Given the description of an element on the screen output the (x, y) to click on. 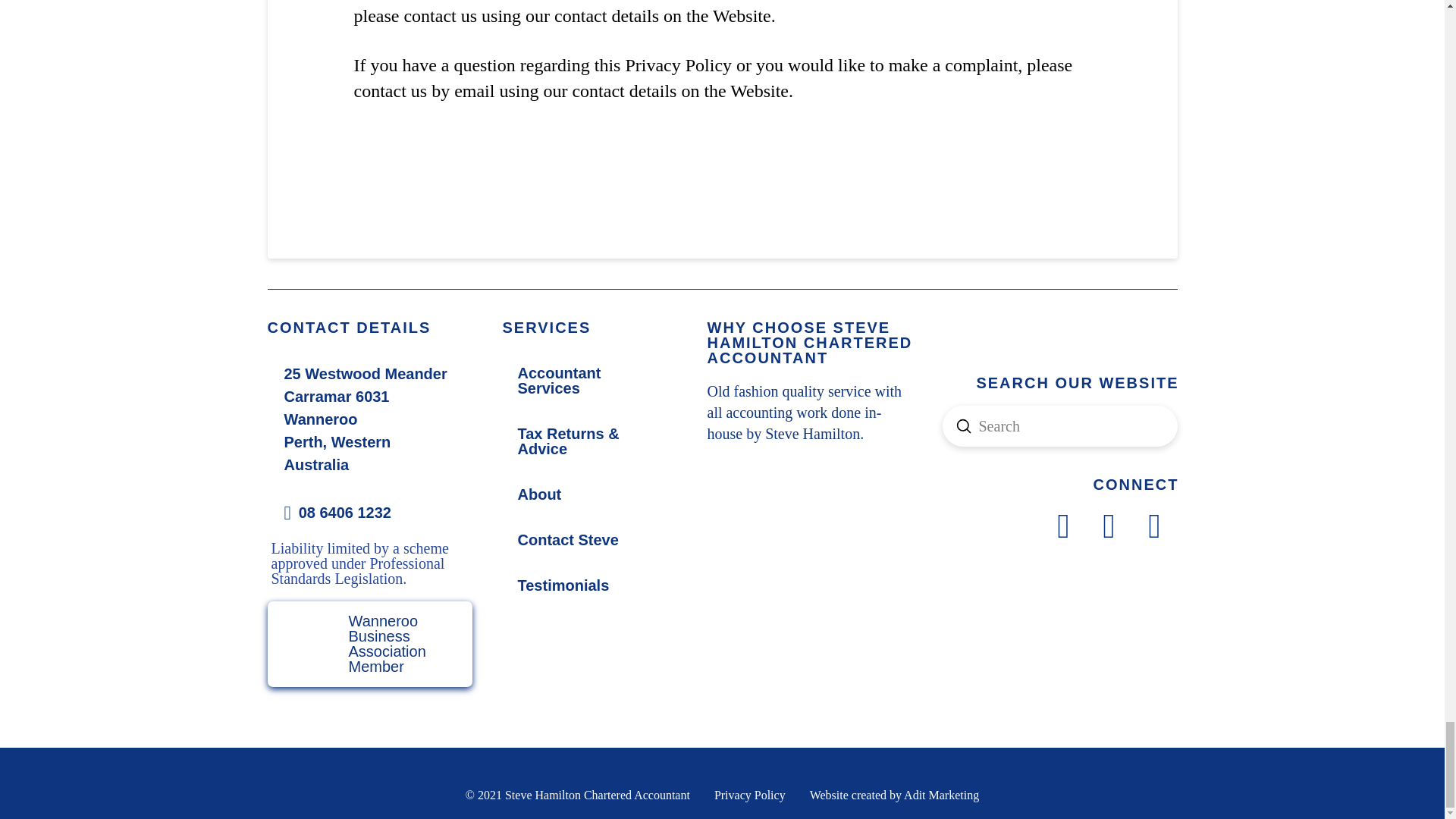
About (539, 493)
Wanneroo Business Association Member (368, 644)
Submit (963, 426)
Contact Steve (567, 539)
Accountant Services (589, 380)
Testimonials (563, 585)
08 6406 1232 (368, 512)
Privacy Policy (750, 794)
